Given the description of an element on the screen output the (x, y) to click on. 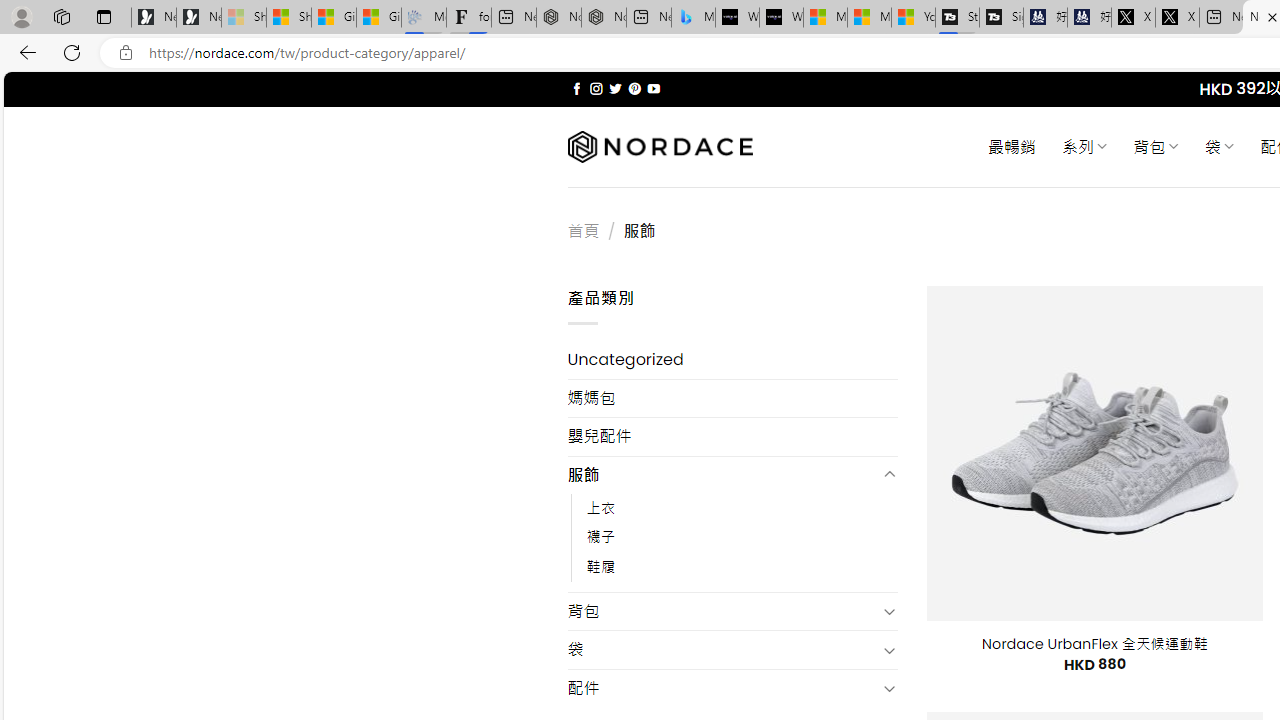
Follow on YouTube (653, 88)
